Given the description of an element on the screen output the (x, y) to click on. 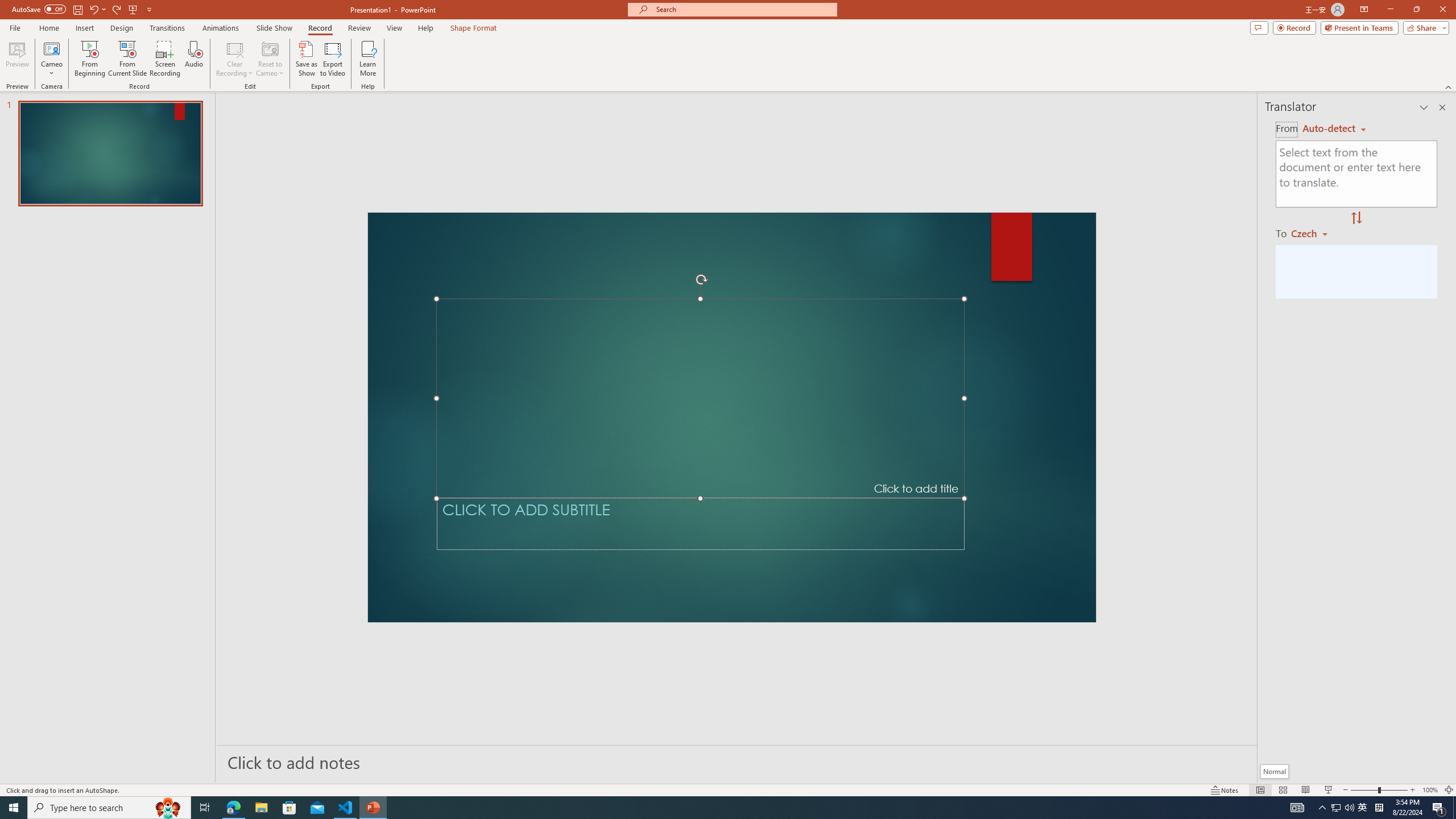
Learn More (368, 58)
Auto-detect (1334, 128)
